Given the description of an element on the screen output the (x, y) to click on. 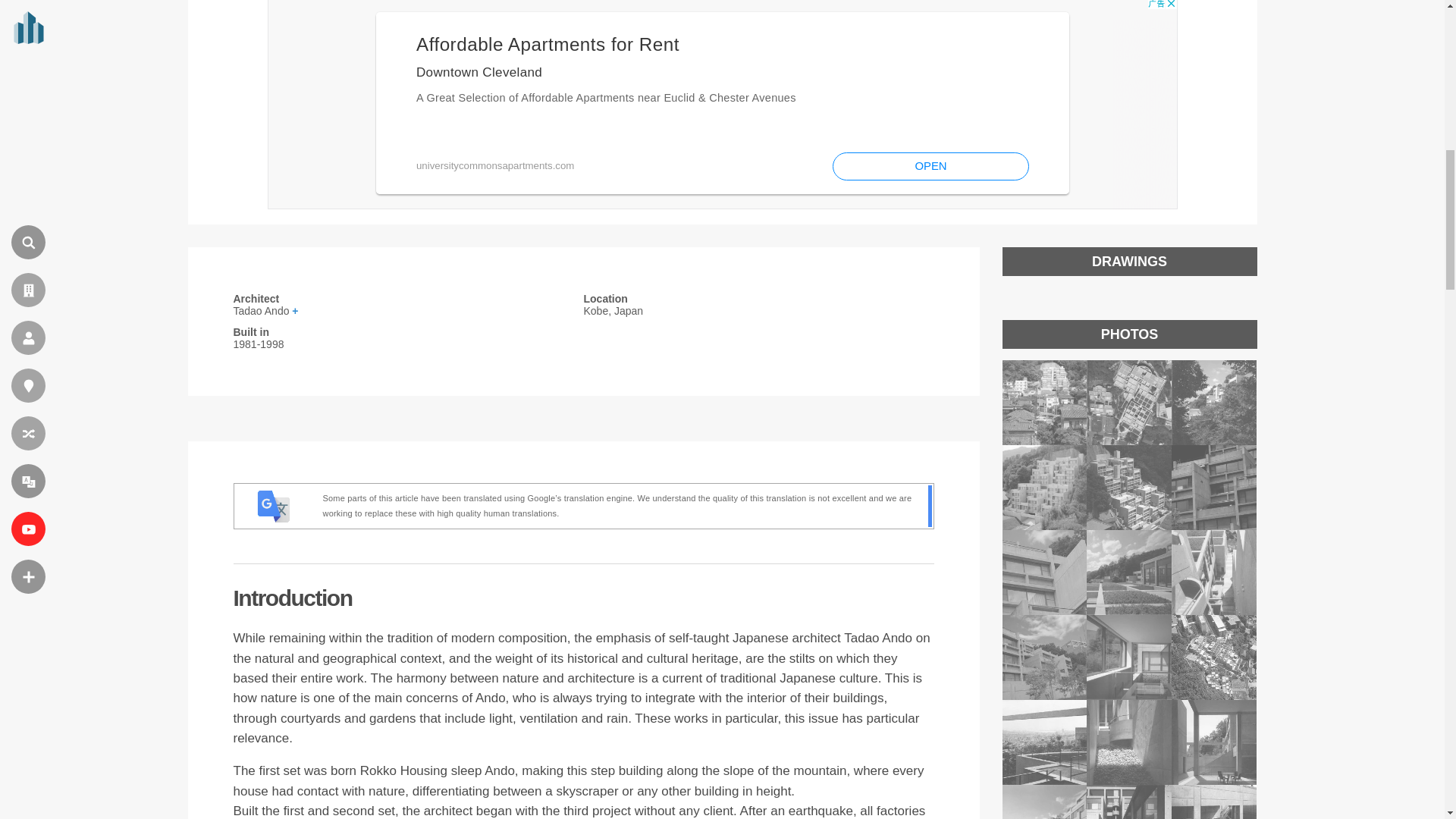
Tadao Ando (407, 310)
